Given the description of an element on the screen output the (x, y) to click on. 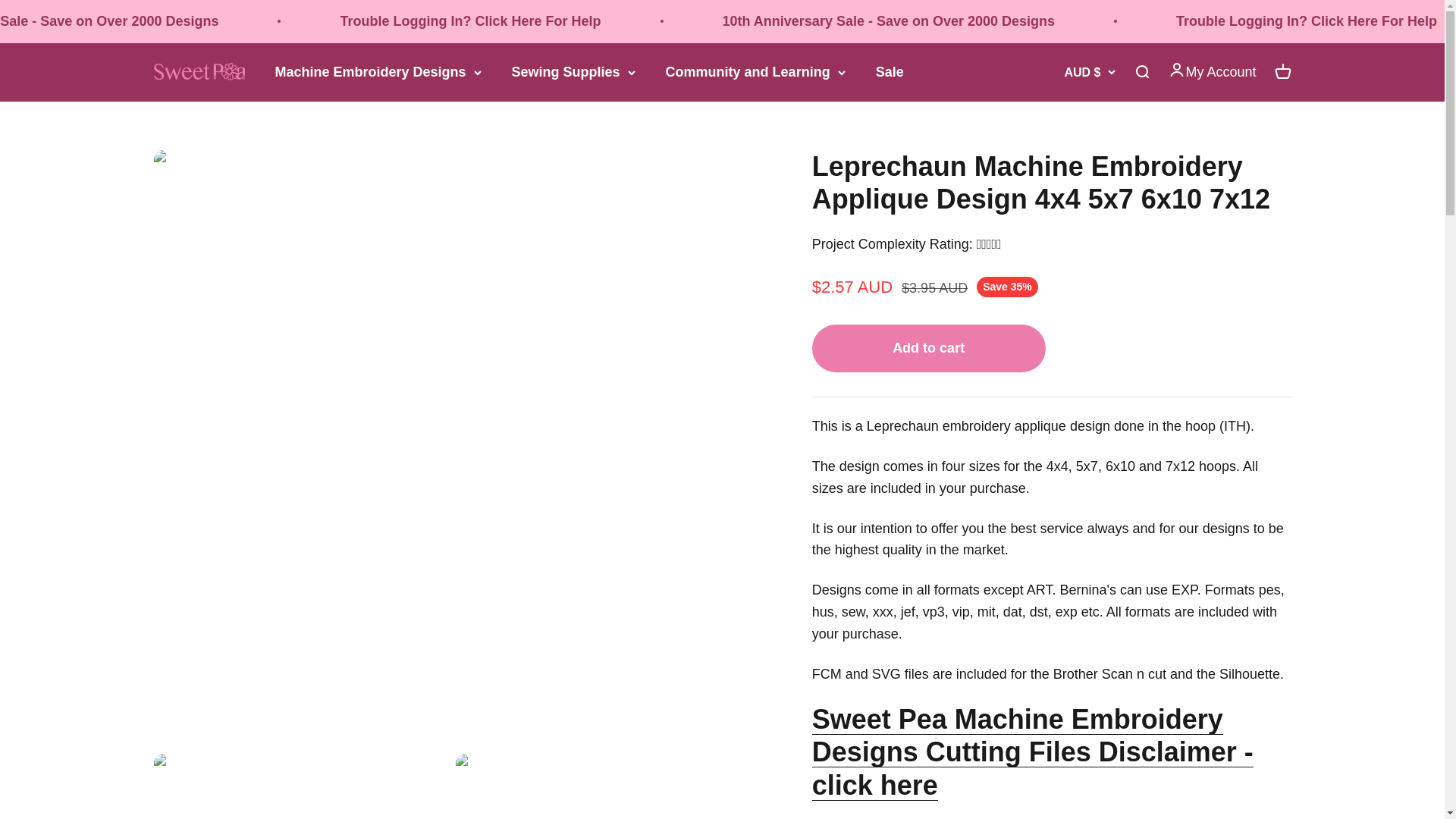
Trouble Logging In? Click Here For Help (1306, 20)
Trouble Logging In? Click Here For Help (469, 20)
10th Anniversary Sale - Save on Over 2000 Designs (888, 20)
10th Anniversary Sale - Save on Over 2000 Designs (109, 20)
